Given the description of an element on the screen output the (x, y) to click on. 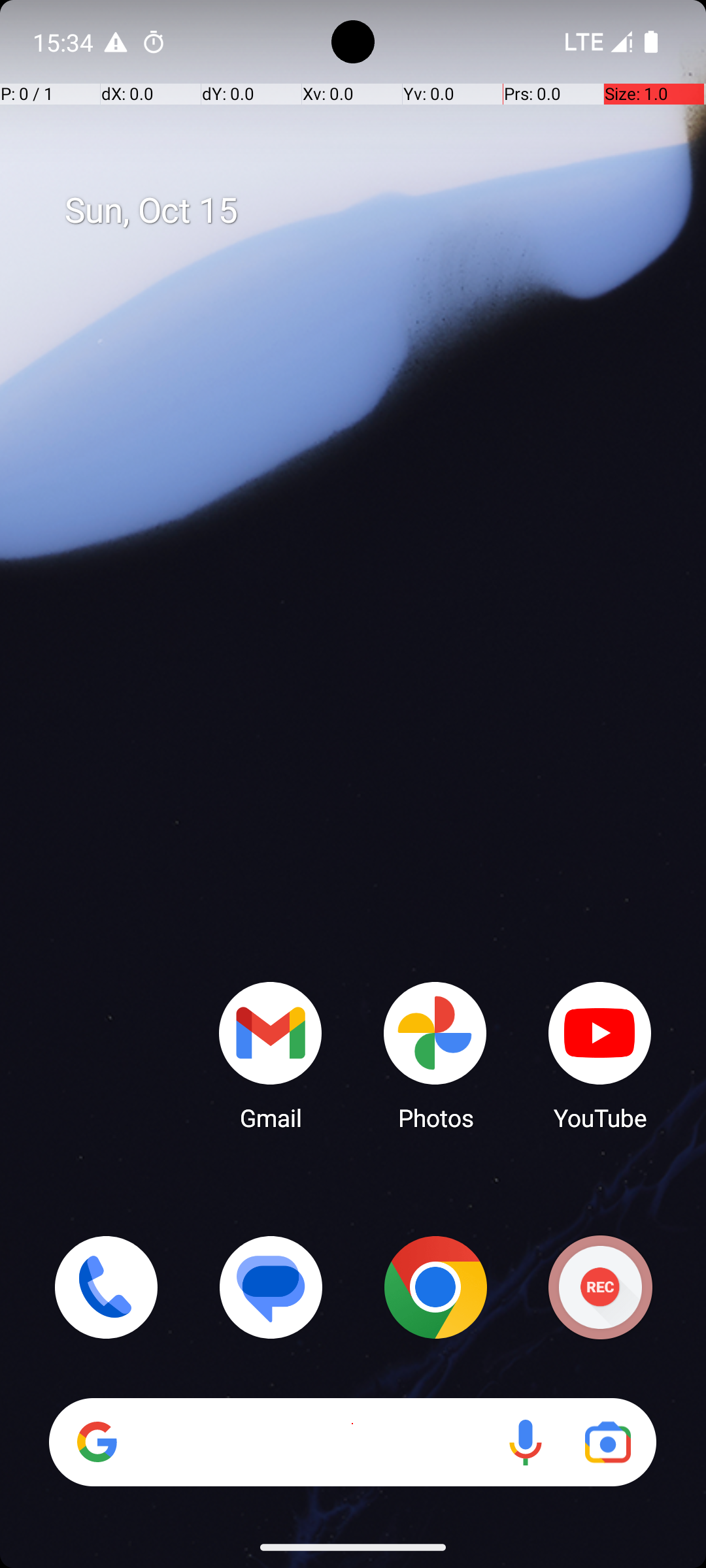
Retake Element type: android.widget.ImageButton (68, 1423)
